Given the description of an element on the screen output the (x, y) to click on. 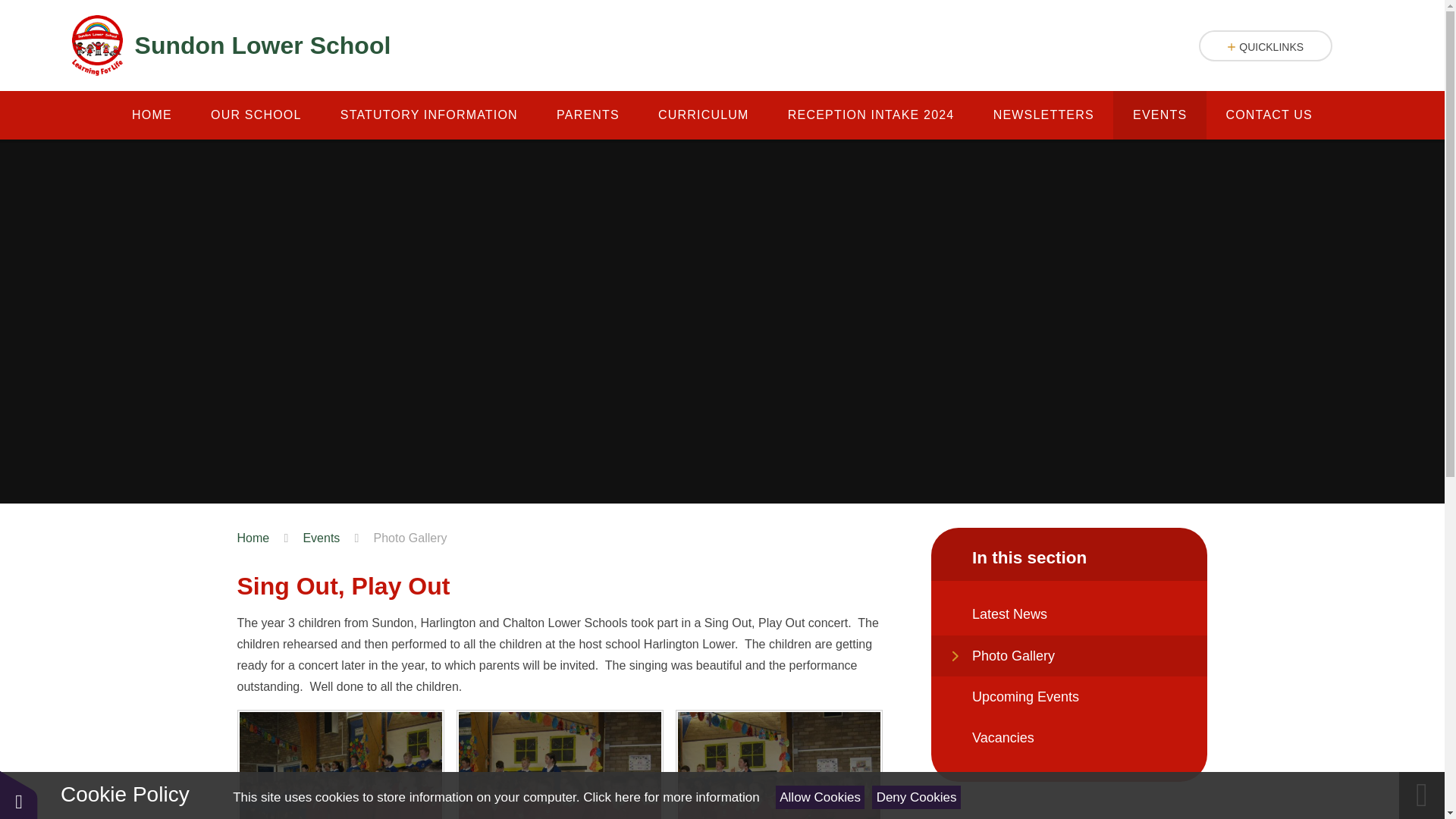
See cookie policy (670, 797)
Allow Cookies (820, 797)
STATUTORY INFORMATION (428, 114)
HOME (151, 114)
Sundon Lower School (230, 45)
Deny Cookies (915, 797)
OUR SCHOOL (255, 114)
